Given the description of an element on the screen output the (x, y) to click on. 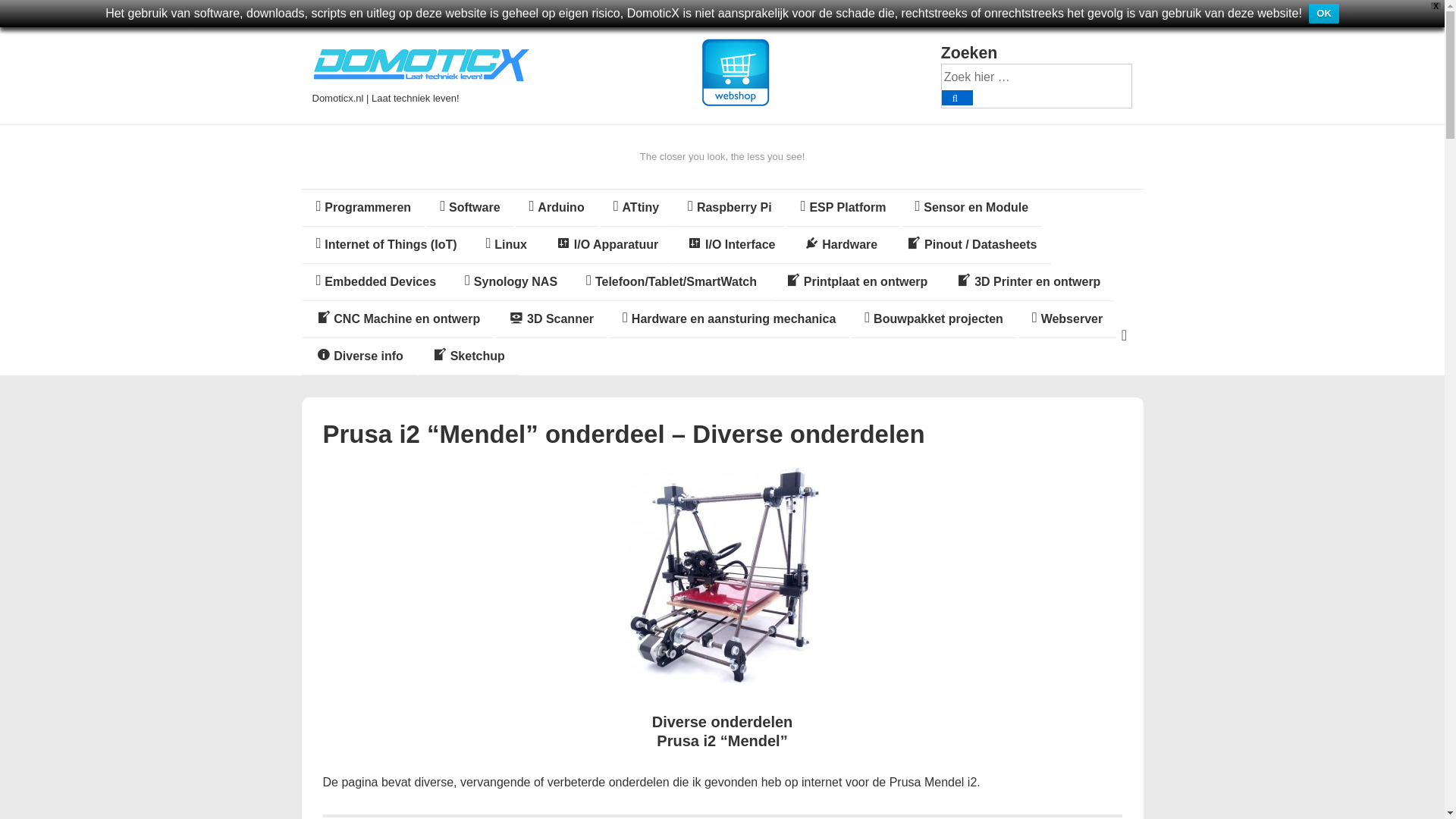
Raspberry Pi (730, 207)
3D Scanner (551, 319)
ESP Platform (843, 207)
Bouwpakket projecten (933, 319)
Domoticx.nl (422, 80)
Hardware en aansturing mechanica (728, 319)
Printplaat en ontwerp (855, 281)
3D Printer en ontwerp (1027, 281)
Programmeren (363, 207)
MENU (1123, 334)
CNC Machine en ontwerp (397, 319)
ATtiny (635, 207)
Hardware (840, 244)
Linux (505, 244)
Webserver (1066, 319)
